Given the description of an element on the screen output the (x, y) to click on. 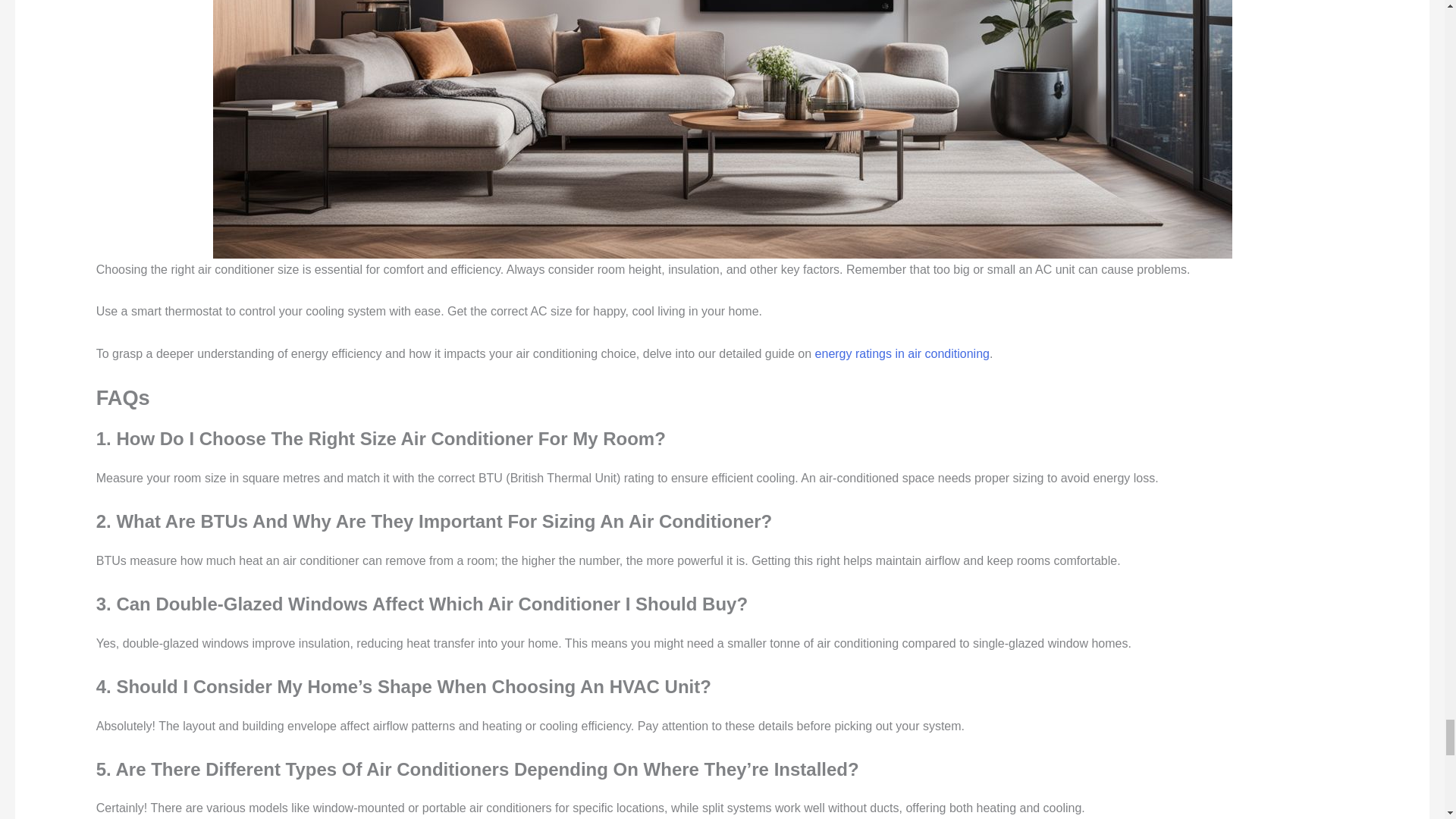
energy ratings in air conditioning (902, 353)
